Given the description of an element on the screen output the (x, y) to click on. 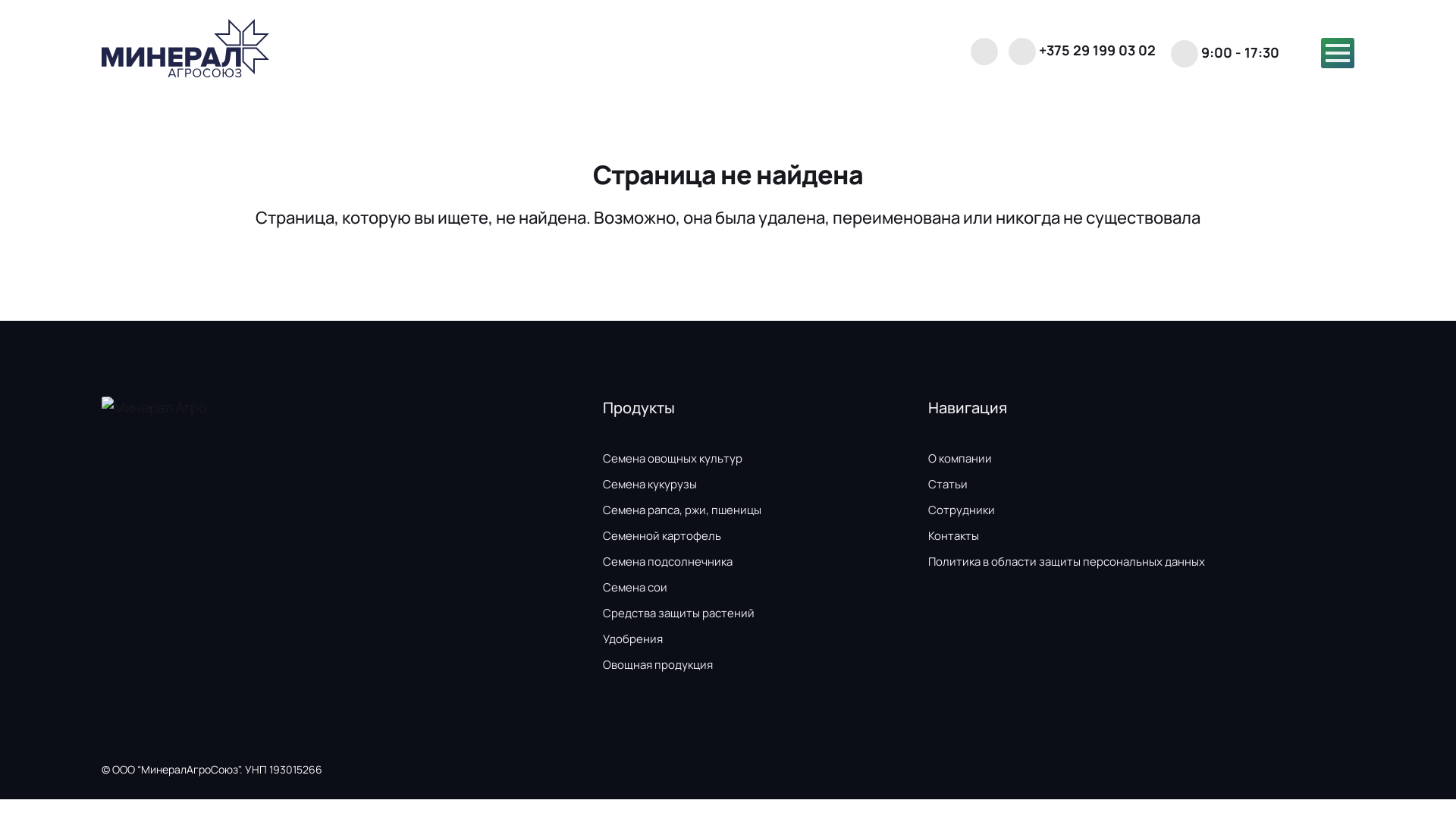
Dribbble Element type: hover (1342, 774)
Instagram Element type: hover (1301, 774)
+375 29 199 03 02 Element type: text (1081, 52)
